Given the description of an element on the screen output the (x, y) to click on. 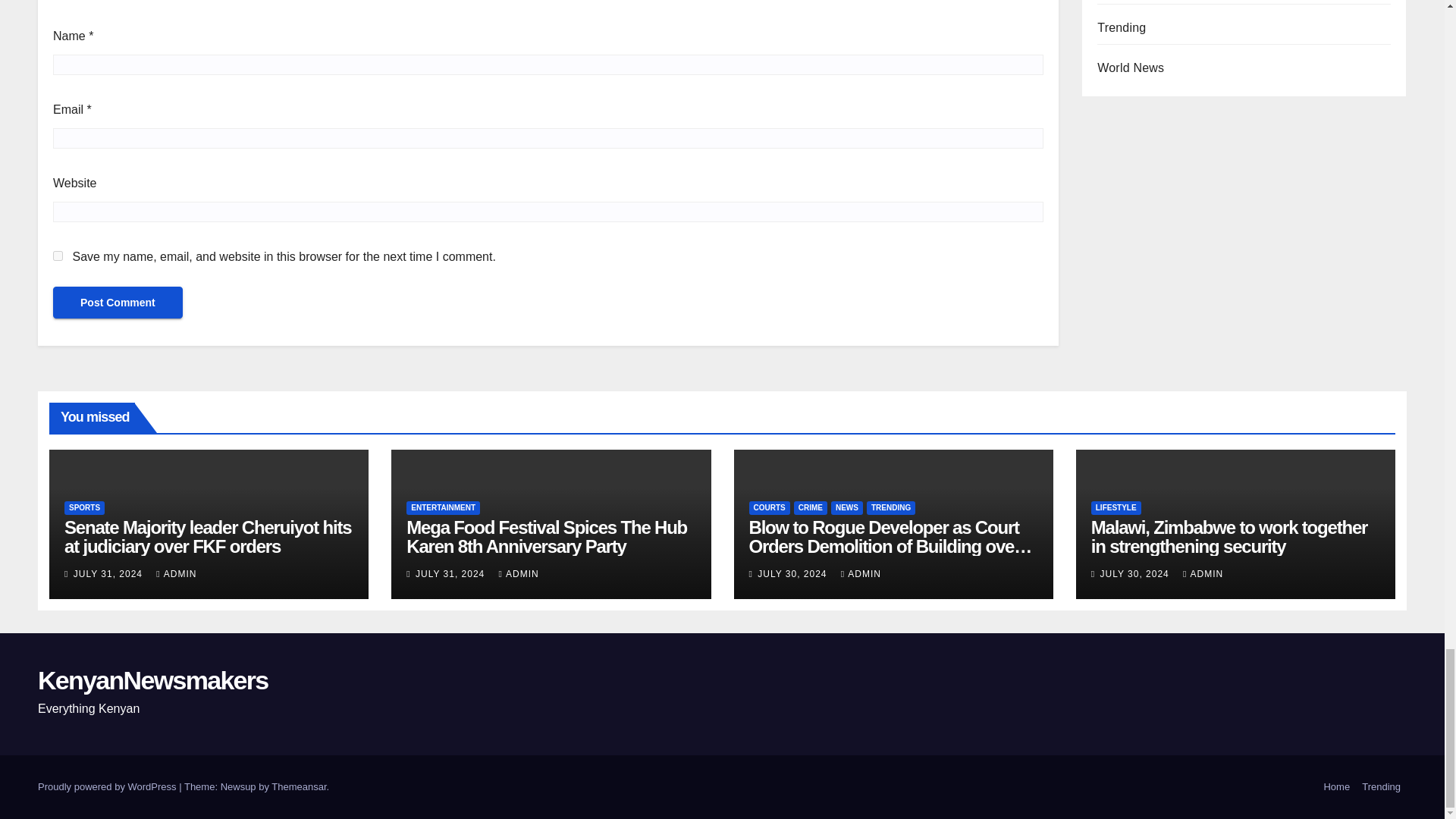
Post Comment (117, 302)
yes (57, 255)
